Given the description of an element on the screen output the (x, y) to click on. 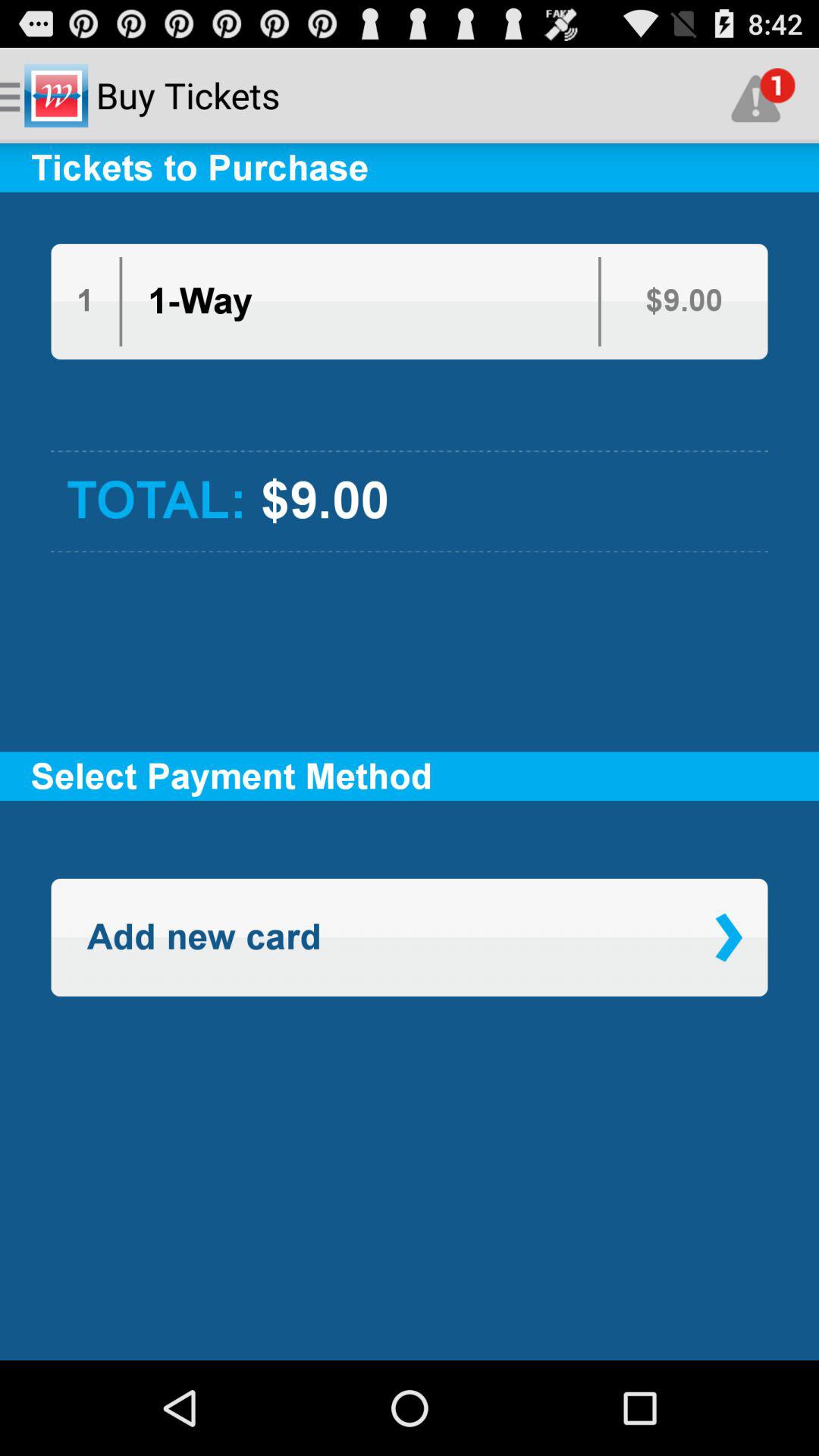
open the app above tickets to purchase icon (763, 95)
